Given the description of an element on the screen output the (x, y) to click on. 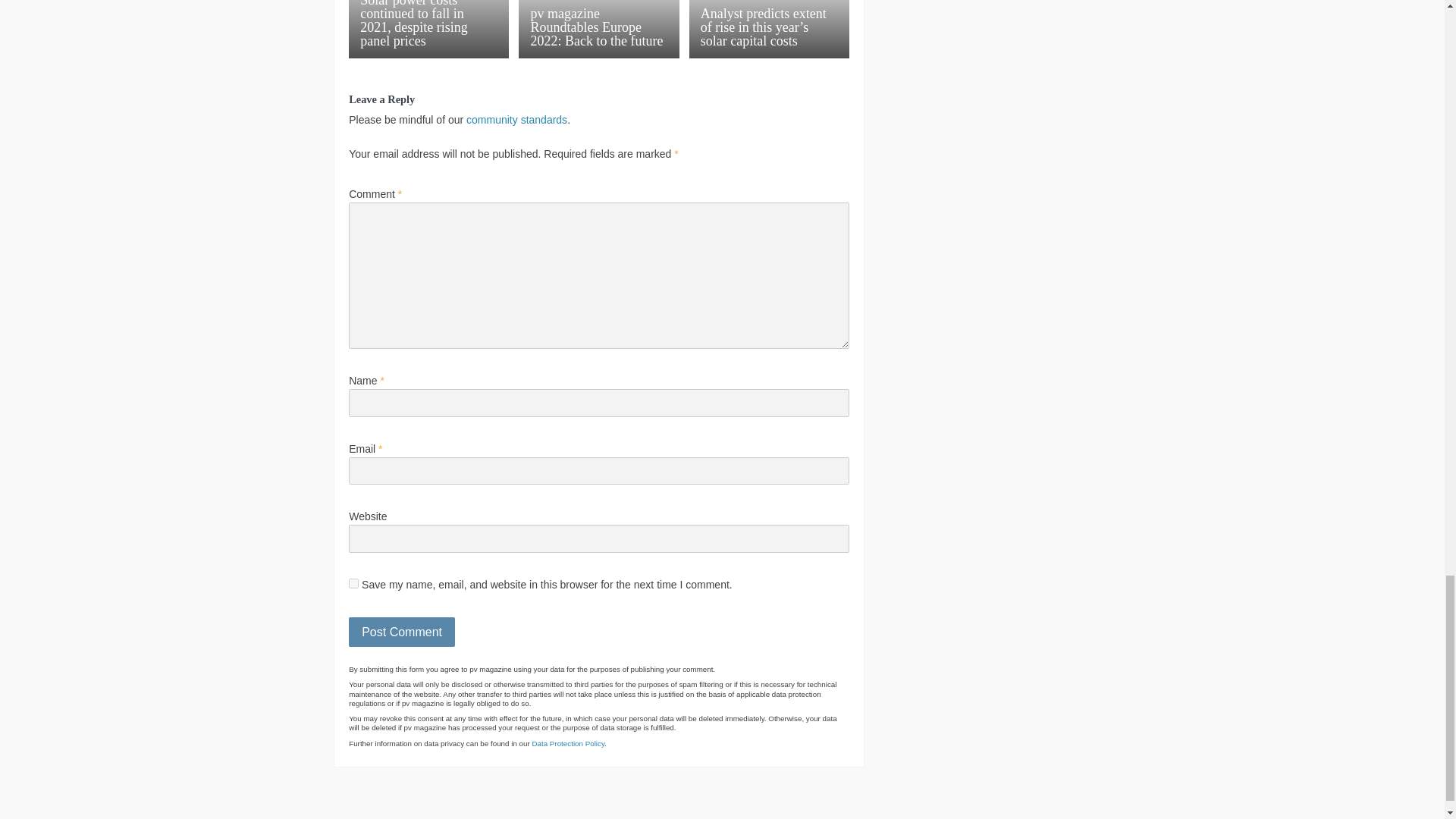
yes (353, 583)
Post Comment (401, 632)
